Given the description of an element on the screen output the (x, y) to click on. 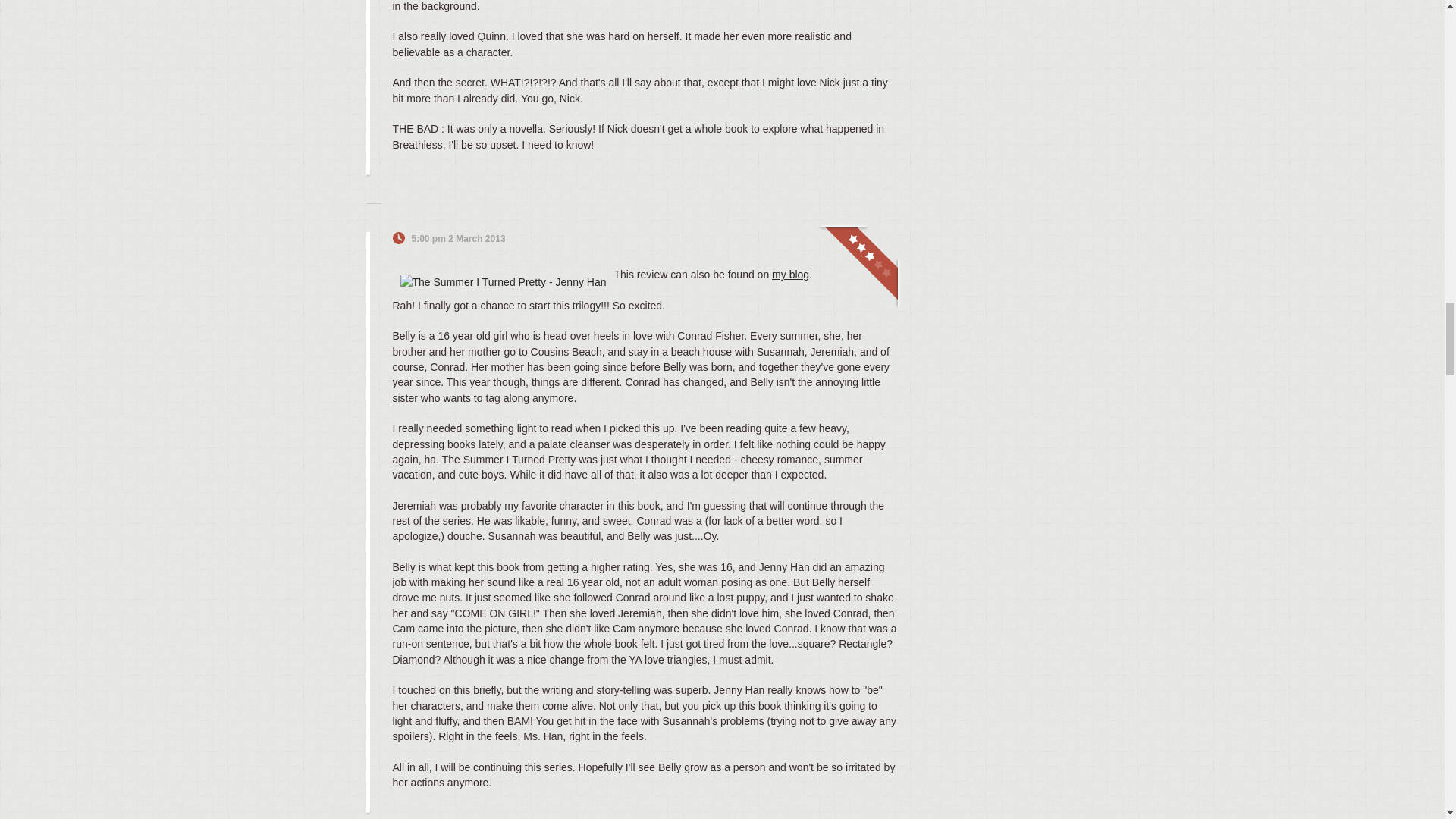
5:00 pm 2 March 2013 (457, 238)
my blog (790, 274)
Tweet (849, 238)
